Given the description of an element on the screen output the (x, y) to click on. 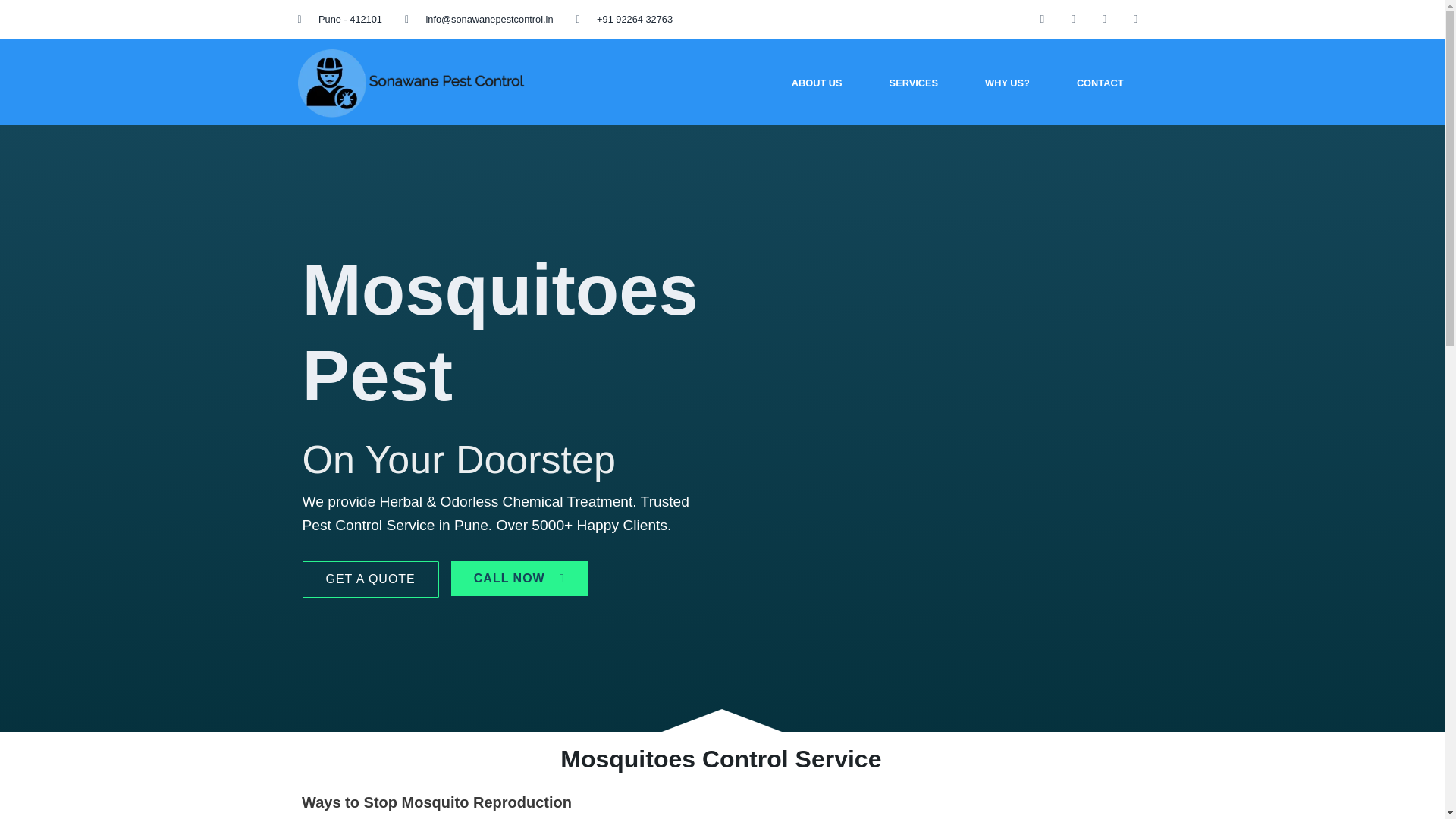
WHY US? (1006, 83)
Pune - 412101 (339, 19)
SERVICES (913, 83)
ABOUT US (817, 83)
CALL NOW (519, 578)
GET A QUOTE (369, 579)
CONTACT (1099, 83)
